Given the description of an element on the screen output the (x, y) to click on. 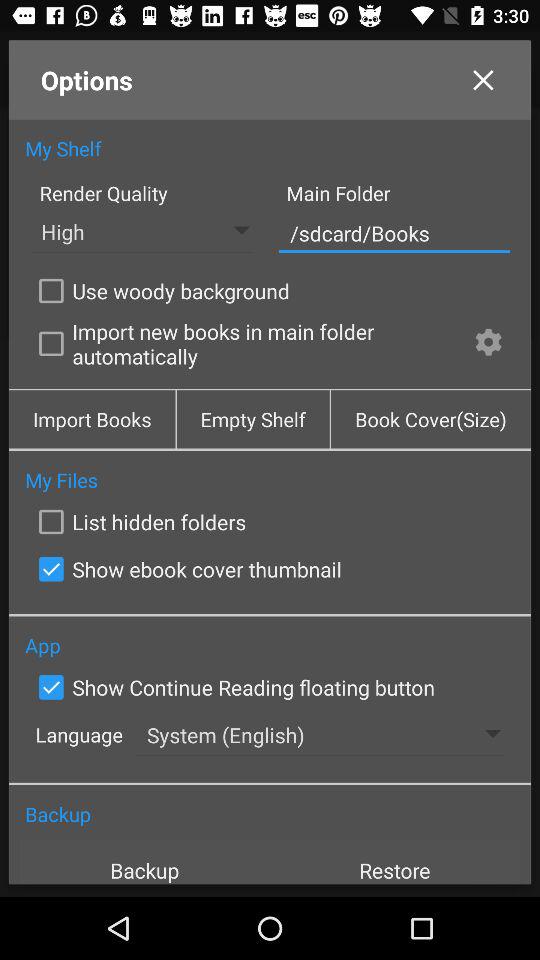
tap the use woody background checkbox (159, 290)
